Given the description of an element on the screen output the (x, y) to click on. 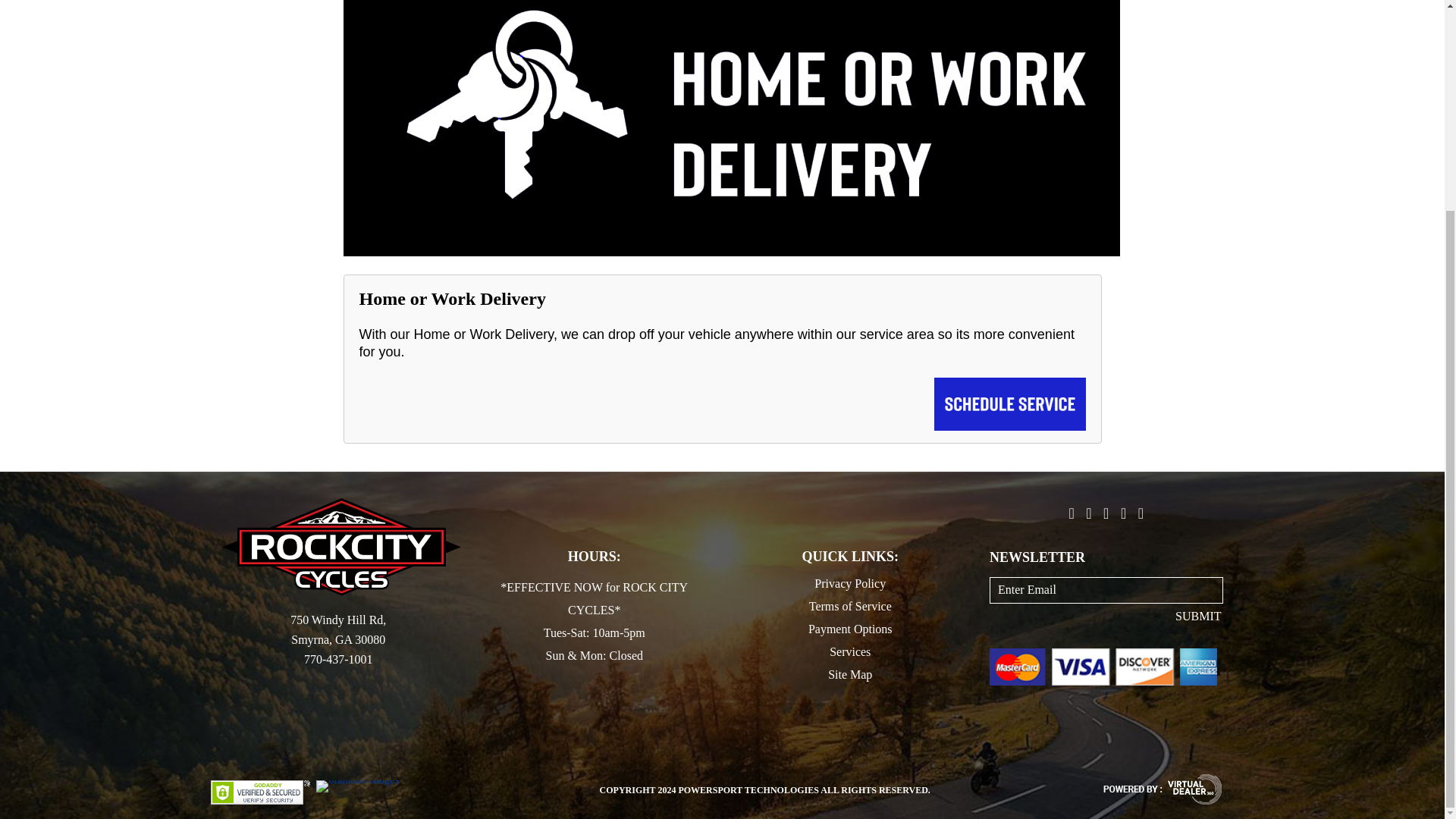
payment options (1103, 666)
VD360 (1161, 789)
Submit (1198, 616)
braintree gif (260, 792)
braintree gateway (356, 786)
footer logo (340, 547)
